Given the description of an element on the screen output the (x, y) to click on. 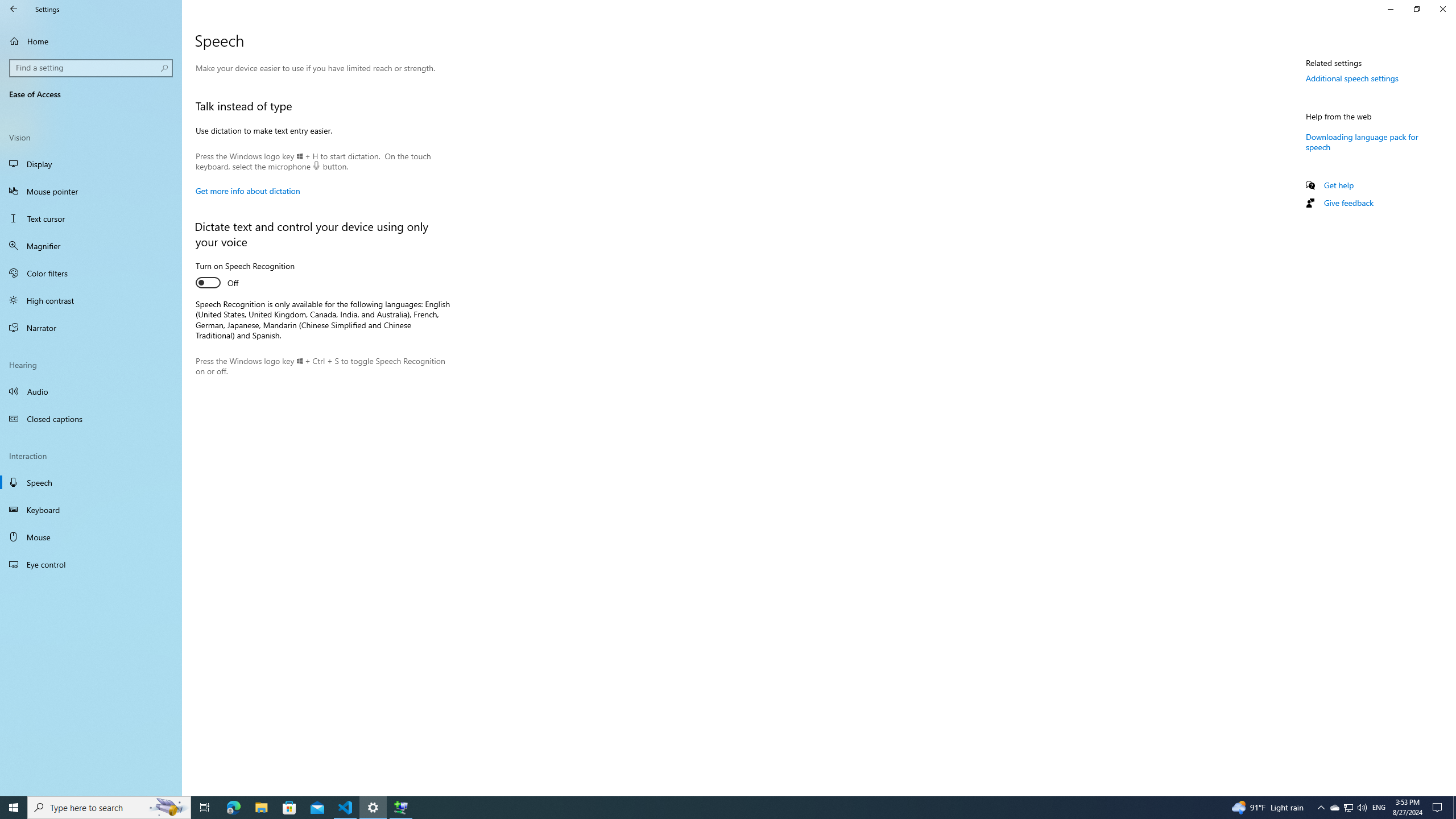
Display (91, 163)
Narrator (91, 327)
High contrast (91, 299)
Additional speech settings (1352, 77)
Mouse pointer (91, 190)
Turn on Speech Recognition (245, 275)
Keyboard (91, 509)
Downloading language pack for speech (1362, 141)
Magnifier (91, 245)
